Given the description of an element on the screen output the (x, y) to click on. 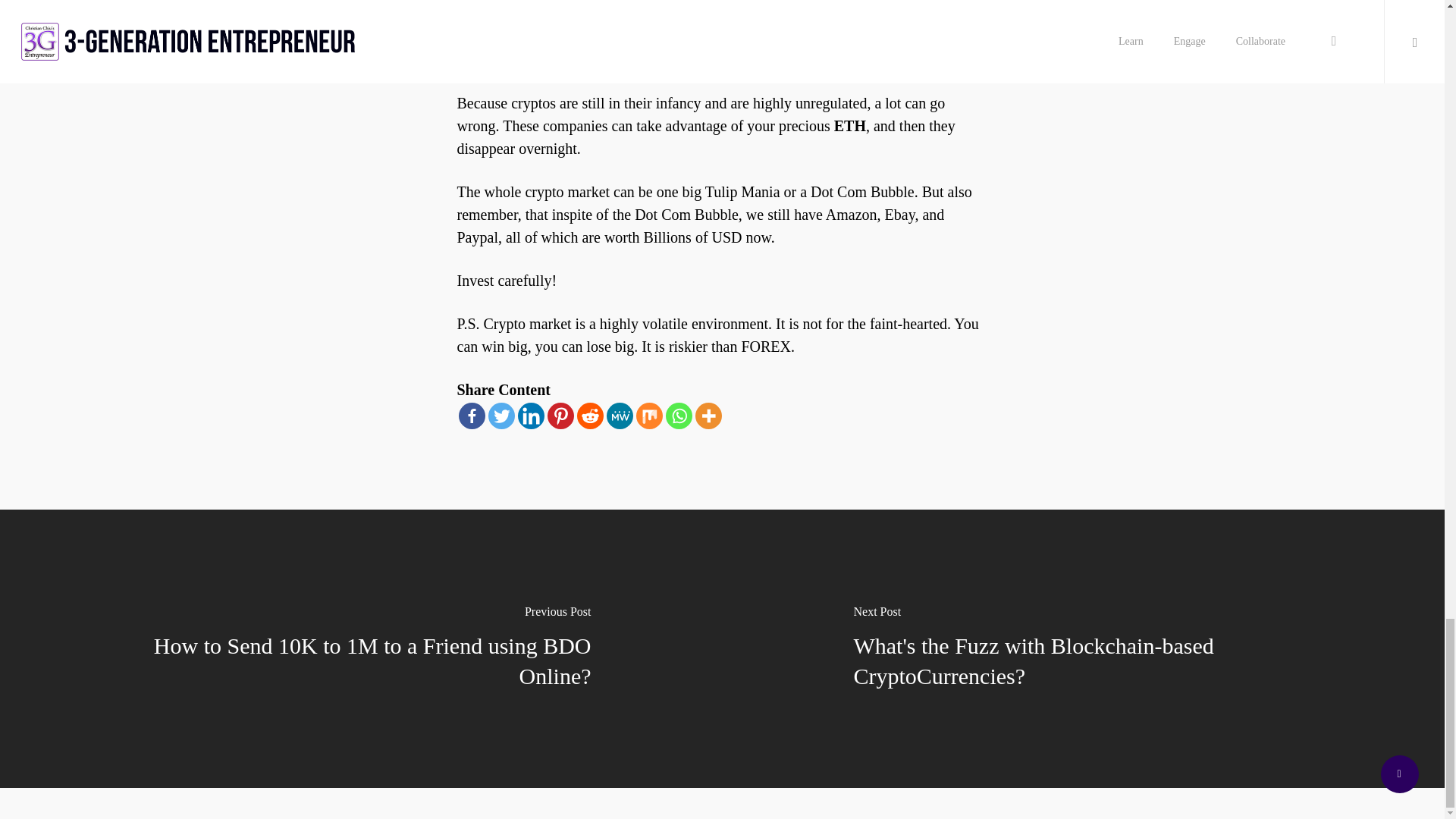
Reddit (589, 415)
Twitter (501, 415)
MeWe (620, 415)
Facebook (471, 415)
Whatsapp (679, 415)
Mix (648, 415)
Linkedin (529, 415)
Pinterest (560, 415)
More (707, 415)
